Given the description of an element on the screen output the (x, y) to click on. 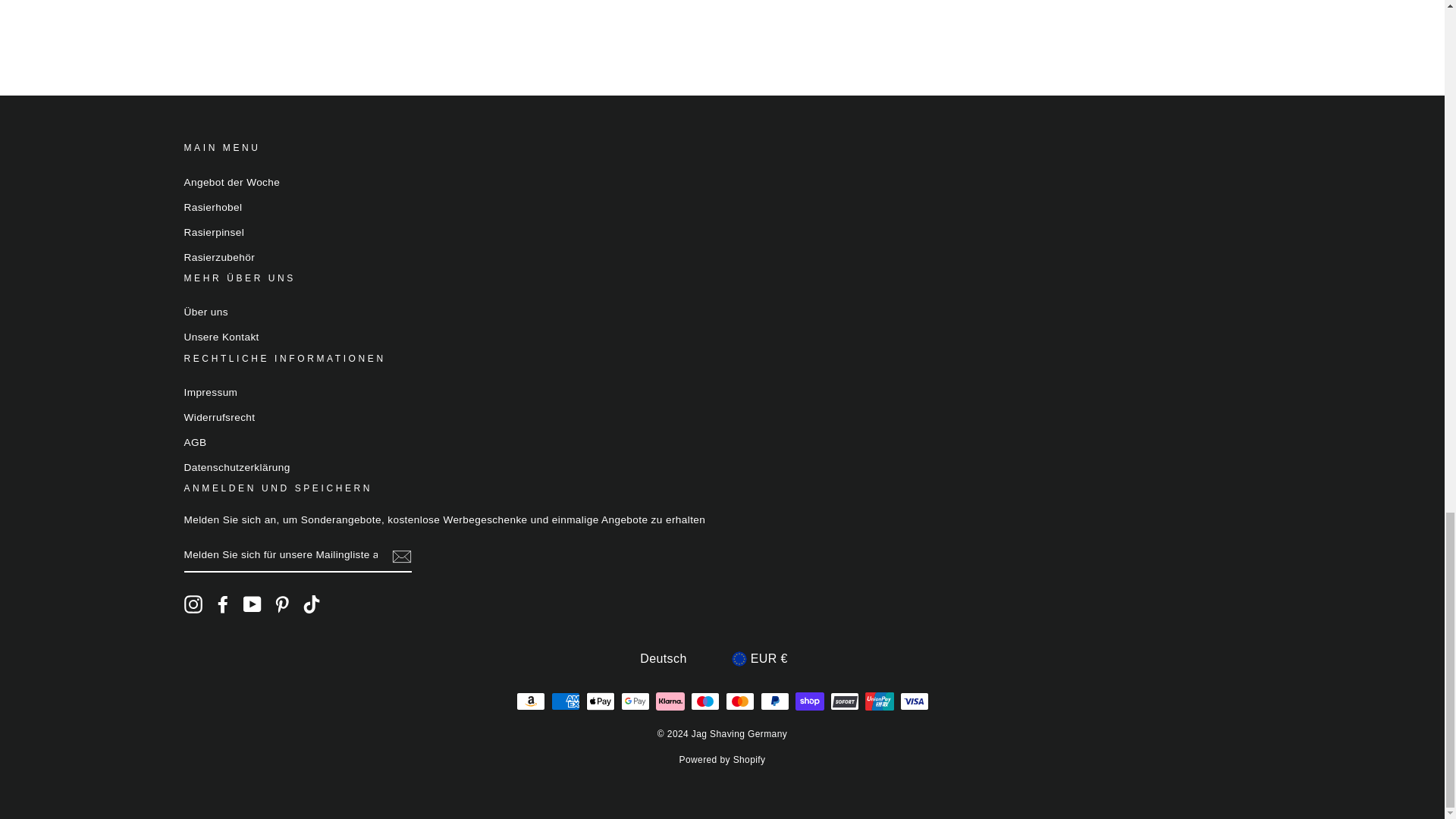
Jag Shaving Germany auf Instagram (192, 604)
Jag Shaving Germany auf TikTok (310, 604)
Jag Shaving Germany auf Pinterest (282, 604)
Jag Shaving Germany auf YouTube (251, 604)
Jag Shaving Germany auf Facebook (222, 604)
